Given the description of an element on the screen output the (x, y) to click on. 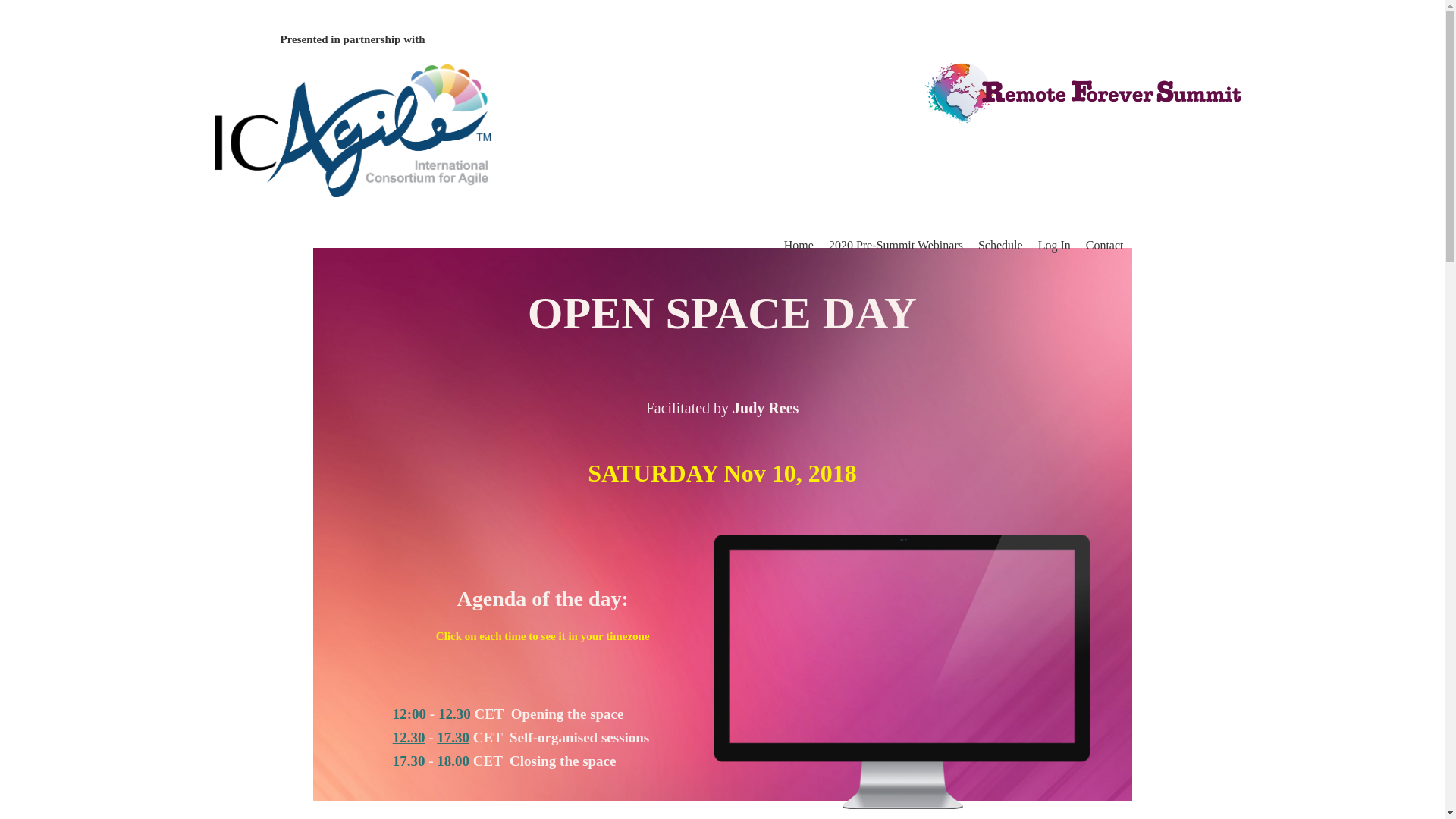
12.30 (454, 713)
17.30 (409, 760)
12:00 (409, 713)
Schedule (1000, 245)
Contact (1105, 245)
17.30 (452, 737)
12.30 (409, 737)
Log In (1054, 245)
2020 Pre-Summit Webinars (895, 245)
18.00 (452, 760)
